Given the description of an element on the screen output the (x, y) to click on. 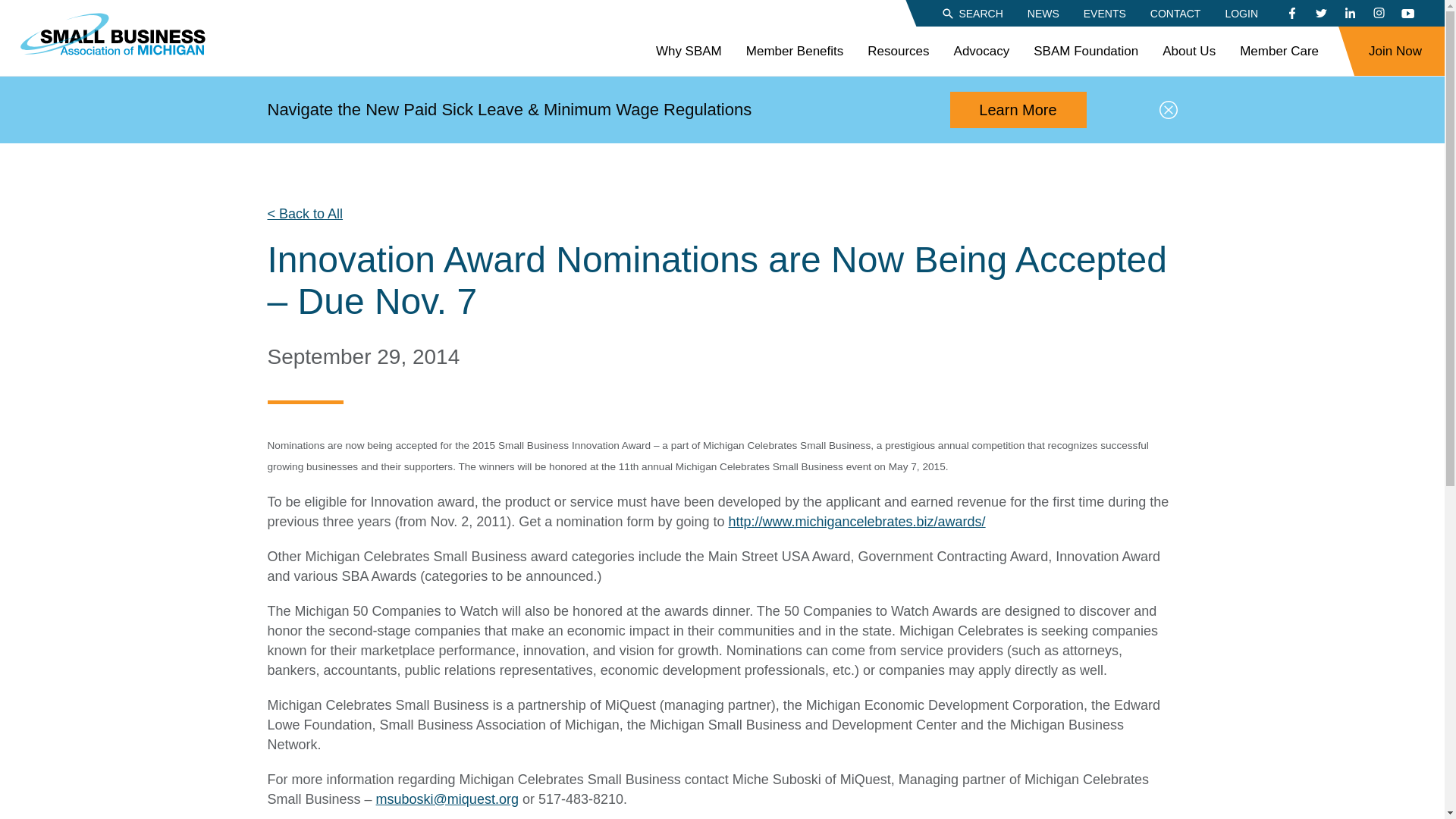
FACEBOOK (1292, 13)
Skip to main content (11, 7)
INSTAGRAM (1378, 13)
EVENTS (1104, 12)
NEWS (1043, 12)
YOUTUBE (1407, 13)
LINKEDIN (1349, 13)
SEARCH (971, 12)
Why SBAM (688, 51)
TWITTER (1320, 13)
